Given the description of an element on the screen output the (x, y) to click on. 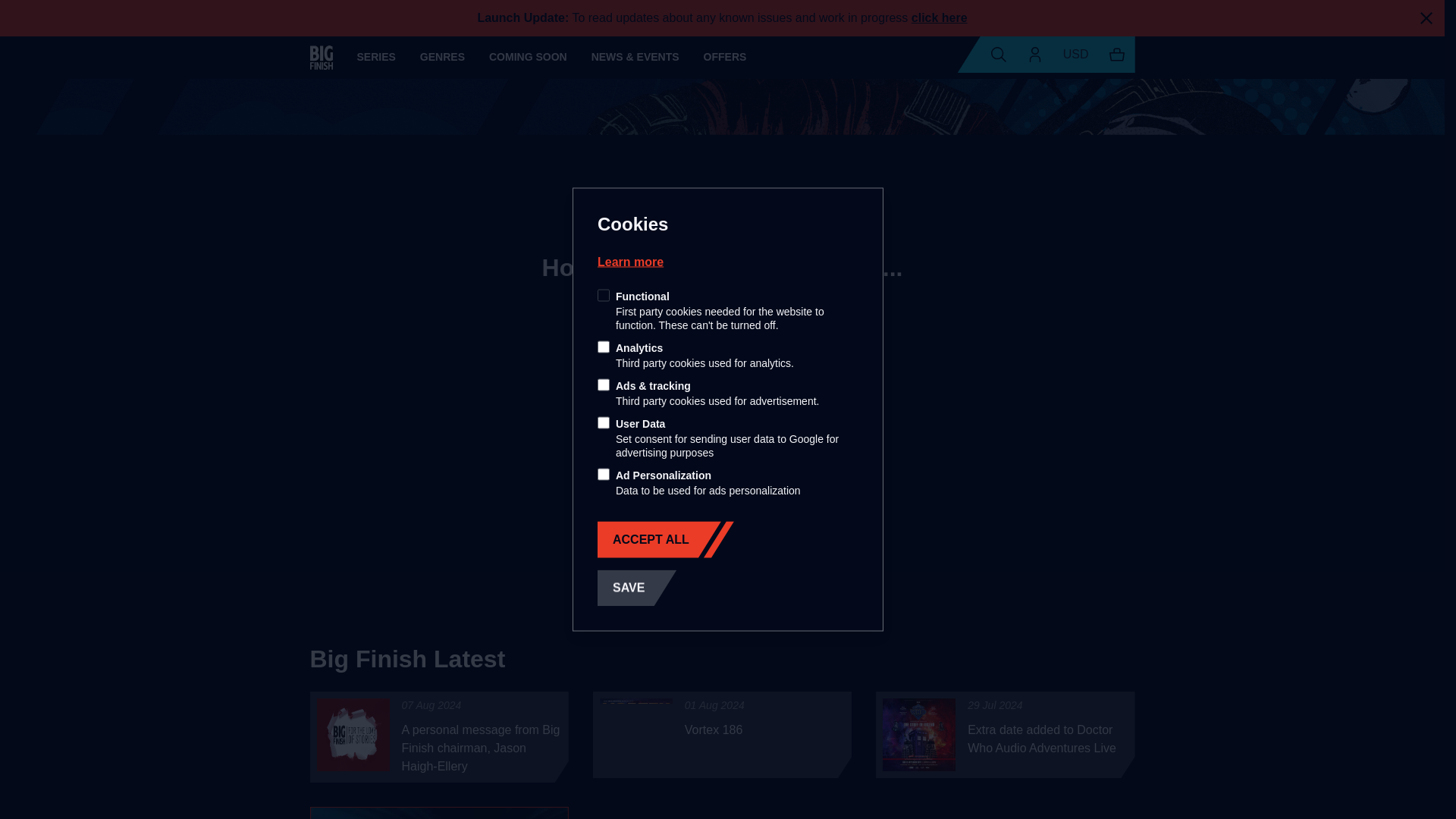
ACCEPT ALL (647, 539)
SAVE (636, 588)
Learn more (630, 260)
on (603, 474)
on (603, 385)
SERIES (375, 57)
on (603, 295)
click here (939, 17)
on (603, 422)
on (603, 346)
